Given the description of an element on the screen output the (x, y) to click on. 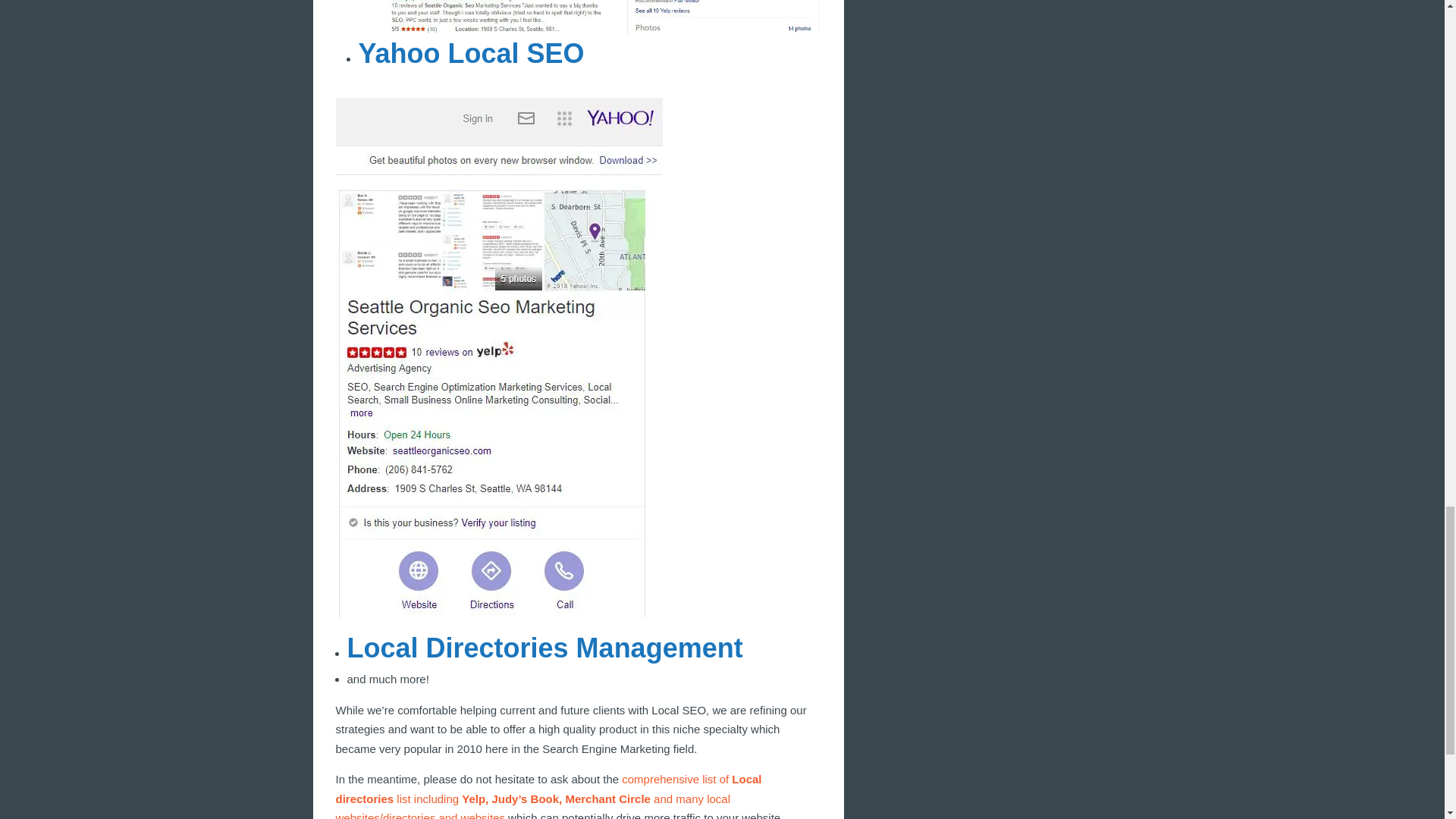
list of local seo directories (547, 796)
